Given the description of an element on the screen output the (x, y) to click on. 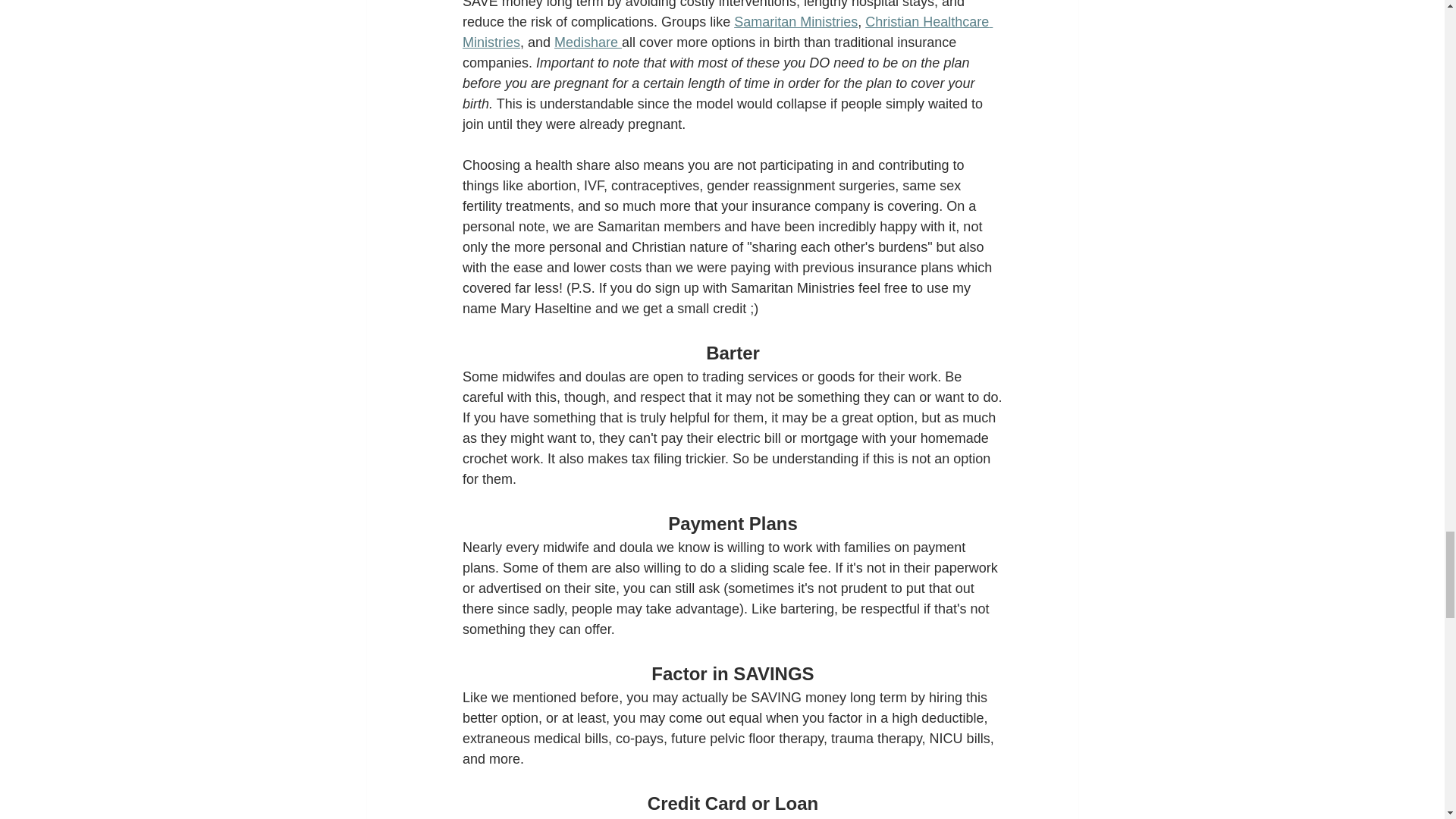
Christian Healthcare Ministries (727, 31)
Samaritan Ministries (795, 21)
Medishare  (587, 42)
